Given the description of an element on the screen output the (x, y) to click on. 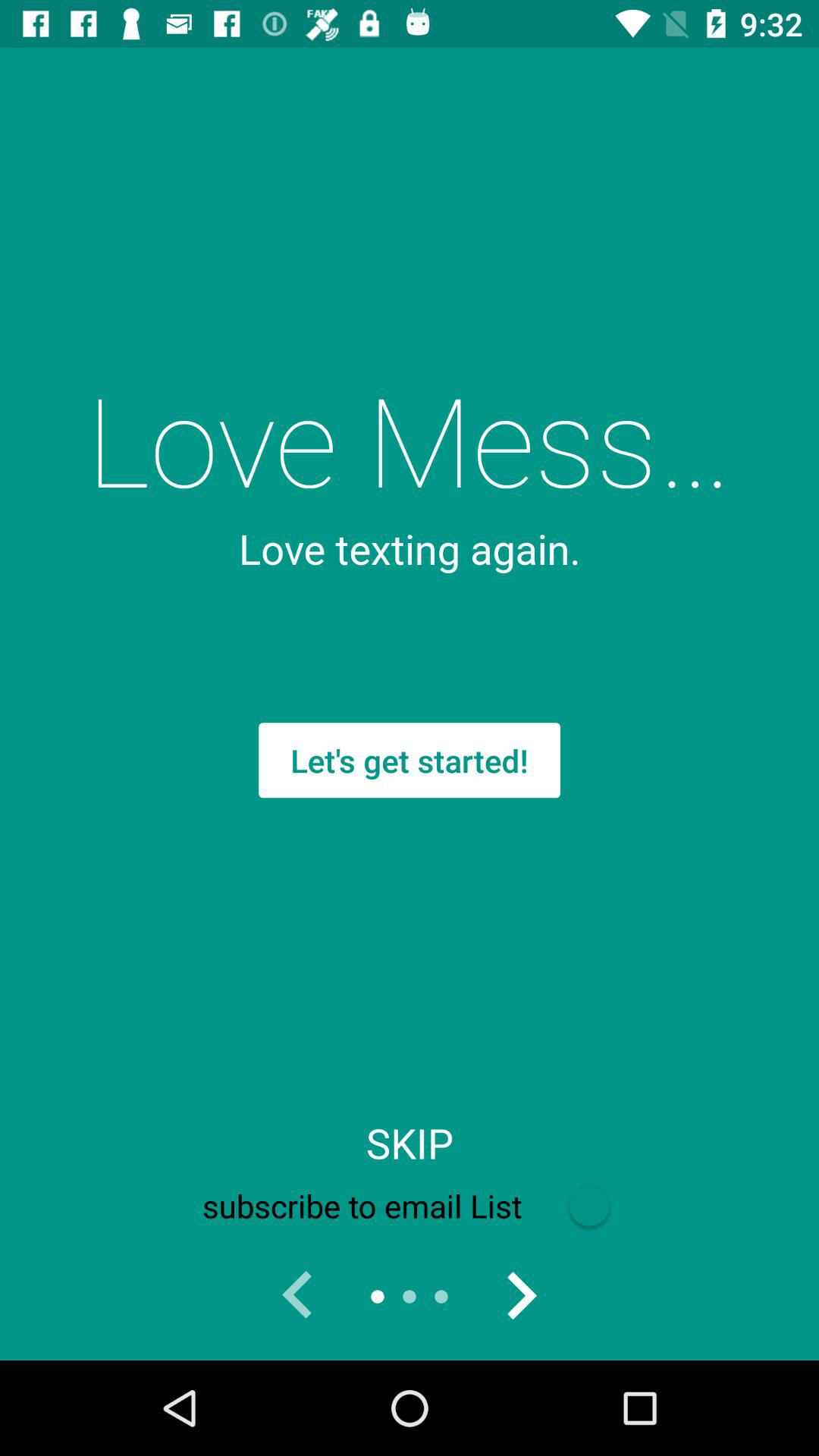
launch icon below let s get icon (409, 1143)
